Given the description of an element on the screen output the (x, y) to click on. 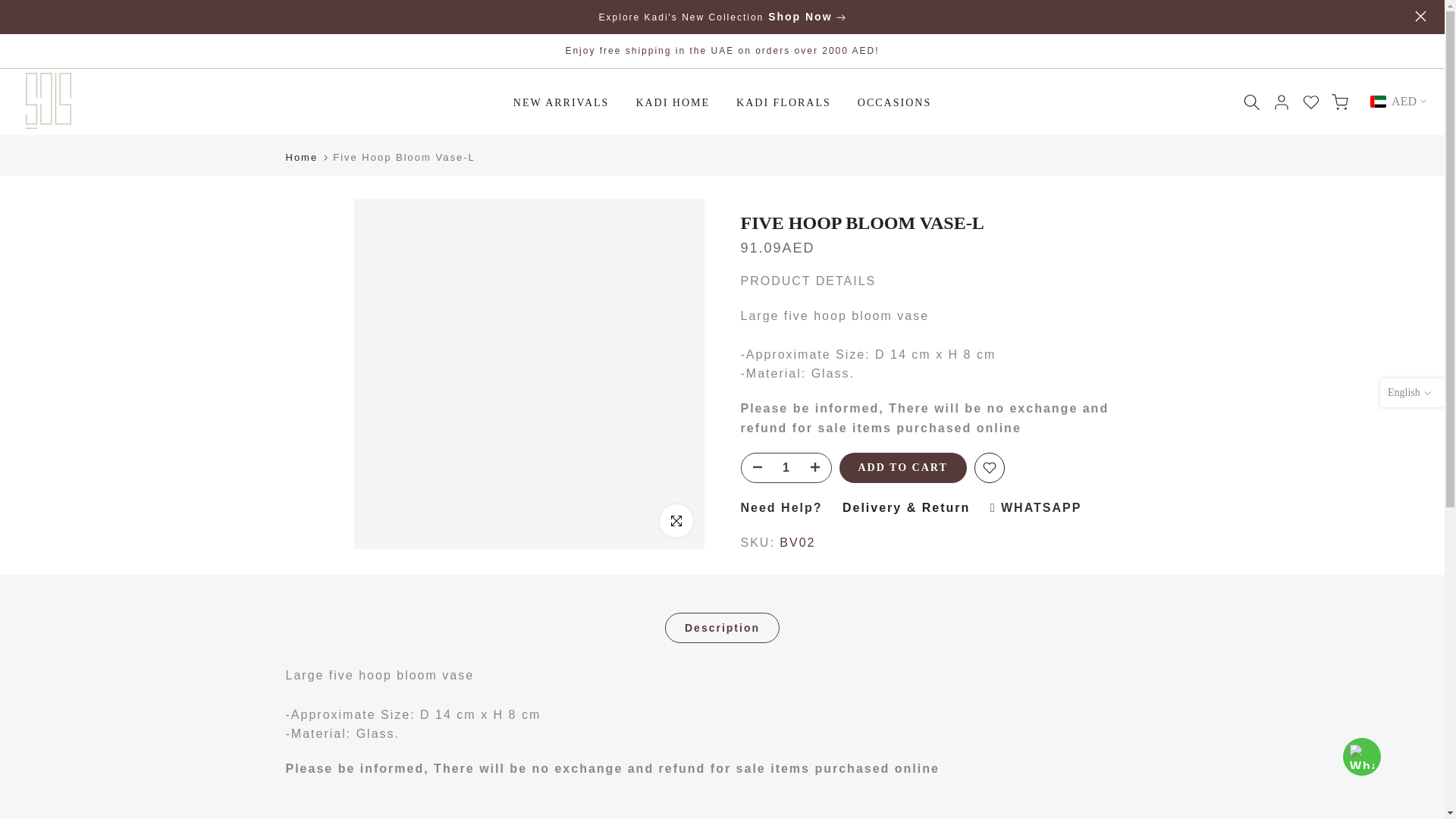
OCCASIONS (893, 103)
KADI HOME (673, 103)
Need Help? (780, 507)
WHATSAPP (1035, 507)
1 (786, 467)
Home (301, 157)
ADD TO CART (902, 467)
Shop Now (801, 17)
close (1420, 16)
KADI FLORALS (783, 103)
